Given the description of an element on the screen output the (x, y) to click on. 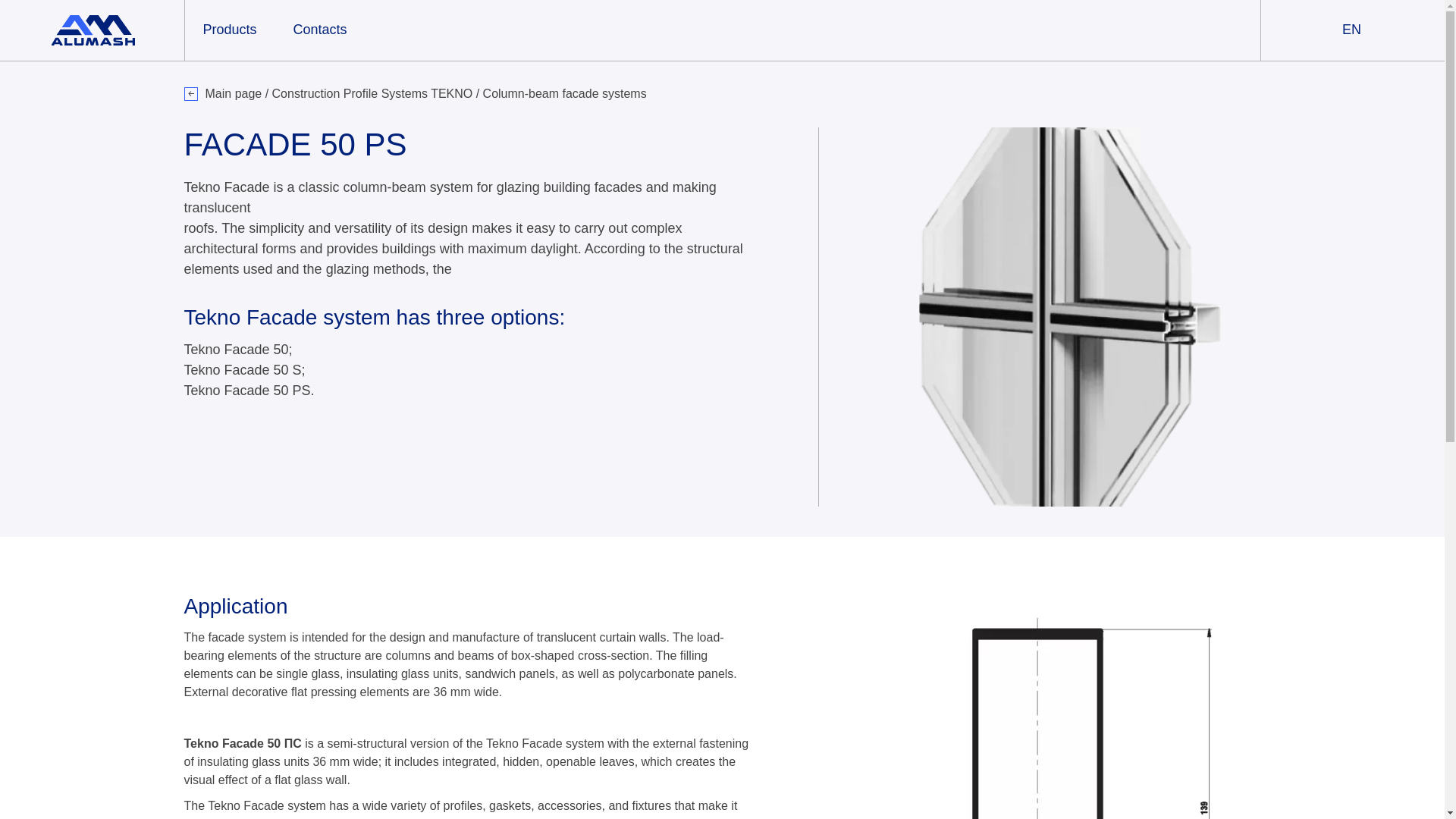
EN (1351, 30)
Column-beam facade systems (564, 92)
Main page (233, 92)
Back (189, 93)
Products (229, 30)
Construction Profile Systems TEKNO (374, 92)
Contacts (320, 30)
